Given the description of an element on the screen output the (x, y) to click on. 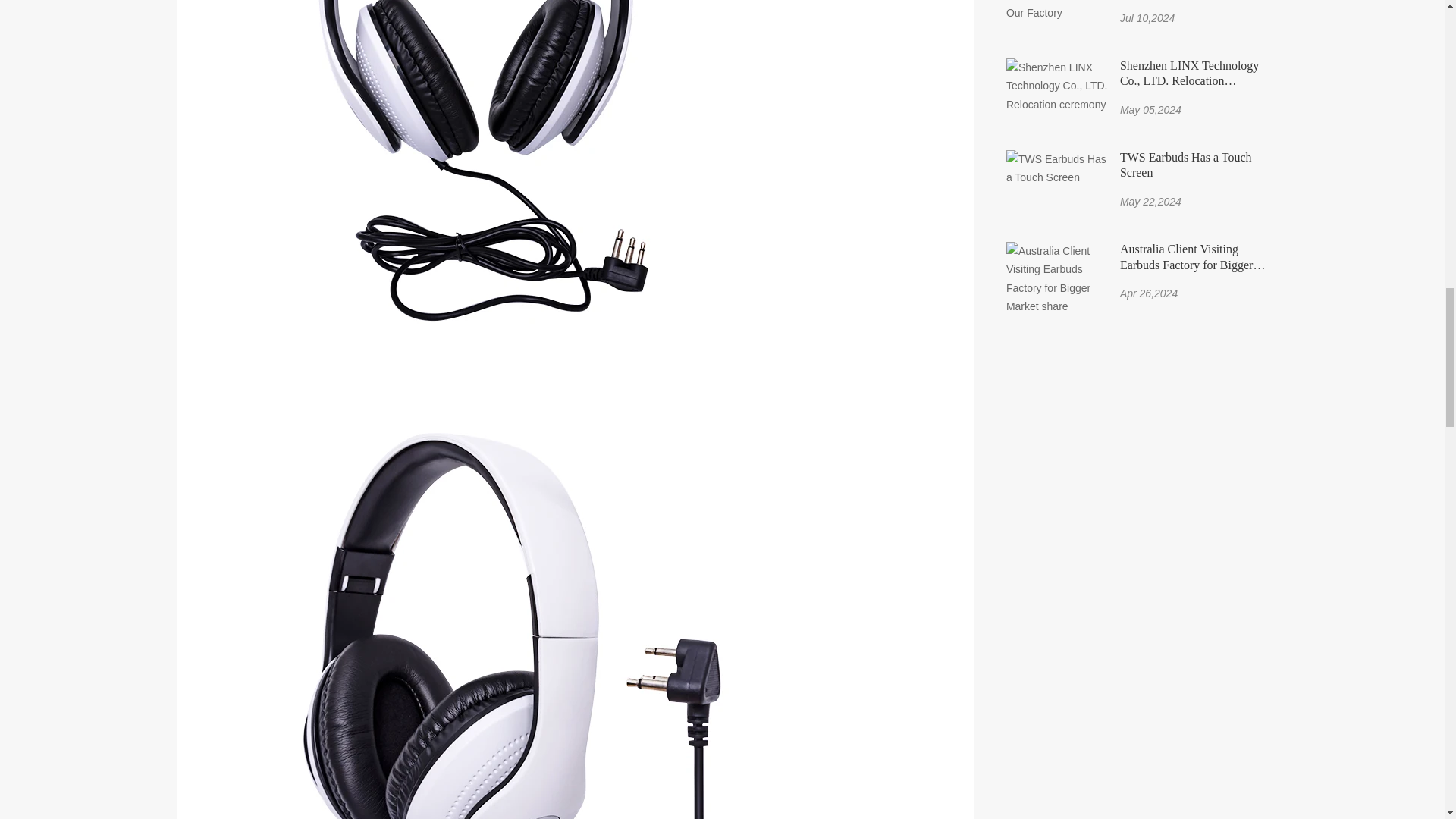
TWS Earbuds Has a Touch Screen (1193, 165)
Shenzhen LINX Technology Co., LTD. Relocation ceremony (1193, 74)
